Given the description of an element on the screen output the (x, y) to click on. 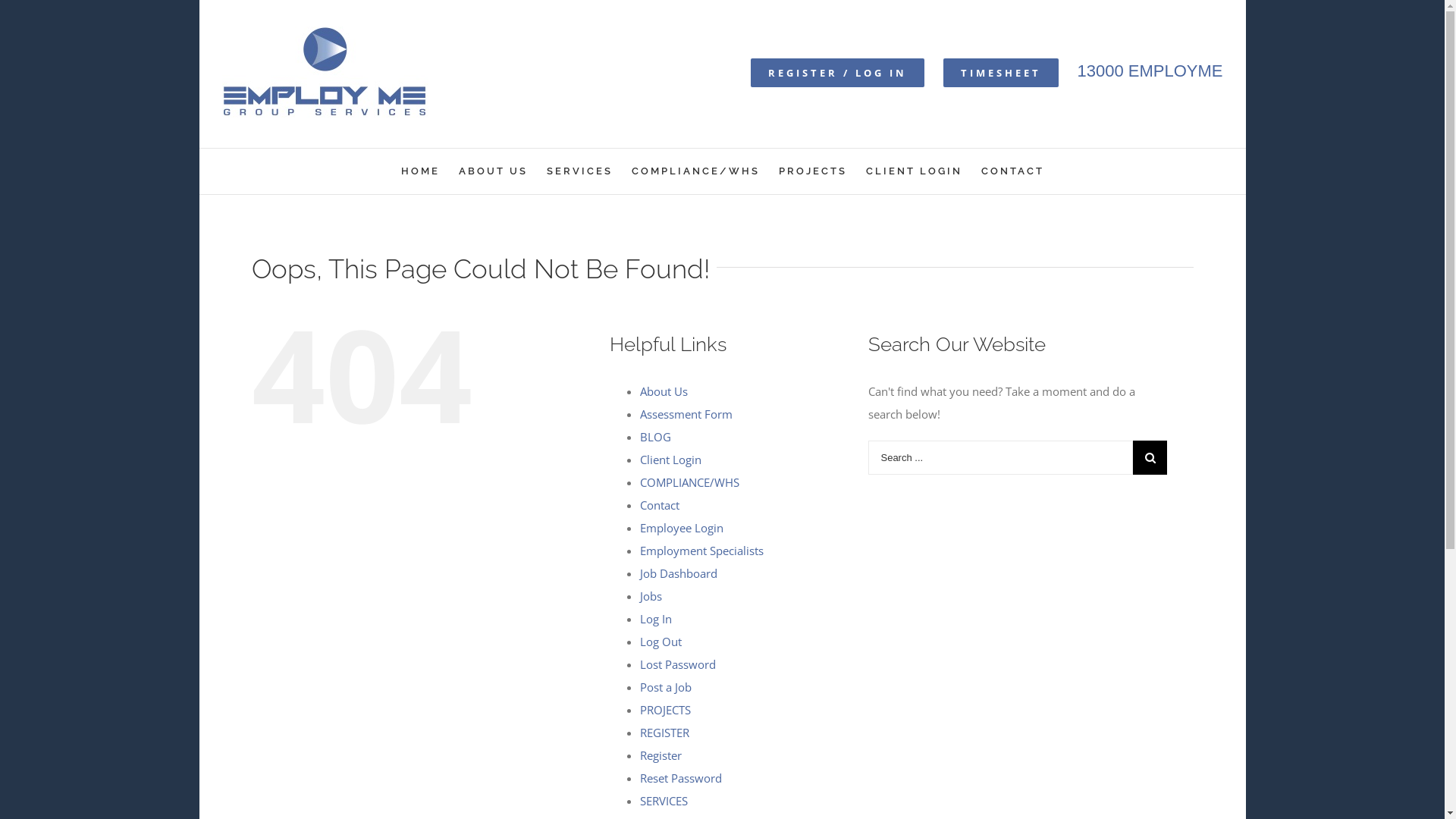
Register Element type: text (660, 754)
CLIENT LOGIN Element type: text (914, 171)
SERVICES Element type: text (578, 171)
About Us Element type: text (663, 390)
Jobs Element type: text (651, 595)
TIMESHEET Element type: text (1000, 71)
Contact Element type: text (659, 504)
COMPLIANCE/WHS Element type: text (694, 171)
Assessment Form Element type: text (686, 413)
CONTACT Element type: text (1012, 171)
PROJECTS Element type: text (665, 709)
PROJECTS Element type: text (812, 171)
Reset Password Element type: text (680, 777)
BLOG Element type: text (655, 436)
Post a Job Element type: text (665, 686)
REGISTER / LOG IN Element type: text (837, 71)
Employment Specialists Element type: text (701, 550)
Job Dashboard Element type: text (678, 572)
COMPLIANCE/WHS Element type: text (689, 481)
Log Out Element type: text (660, 641)
Client Login Element type: text (670, 459)
Employee Login Element type: text (681, 527)
SERVICES Element type: text (663, 800)
Log In Element type: text (655, 618)
Lost Password Element type: text (677, 663)
13000 EMPLOYME Element type: text (1150, 69)
HOME Element type: text (419, 171)
REGISTER Element type: text (664, 732)
ABOUT US Element type: text (492, 171)
